Given the description of an element on the screen output the (x, y) to click on. 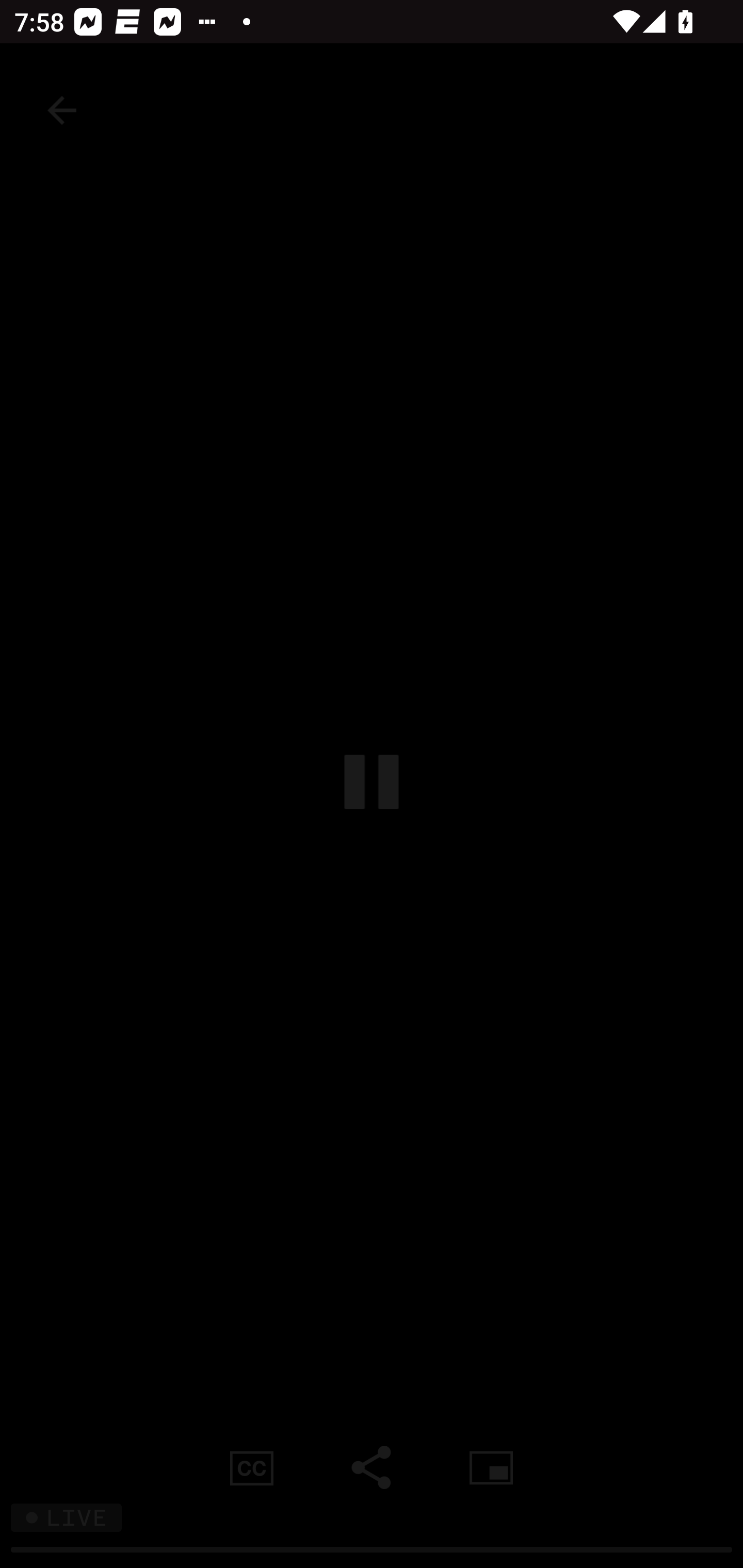
Back (61, 110)
Pause (371, 781)
Closed Captions, ON (251, 1467)
Share Media (371, 1467)
Picture in Picture Media (490, 1467)
